Given the description of an element on the screen output the (x, y) to click on. 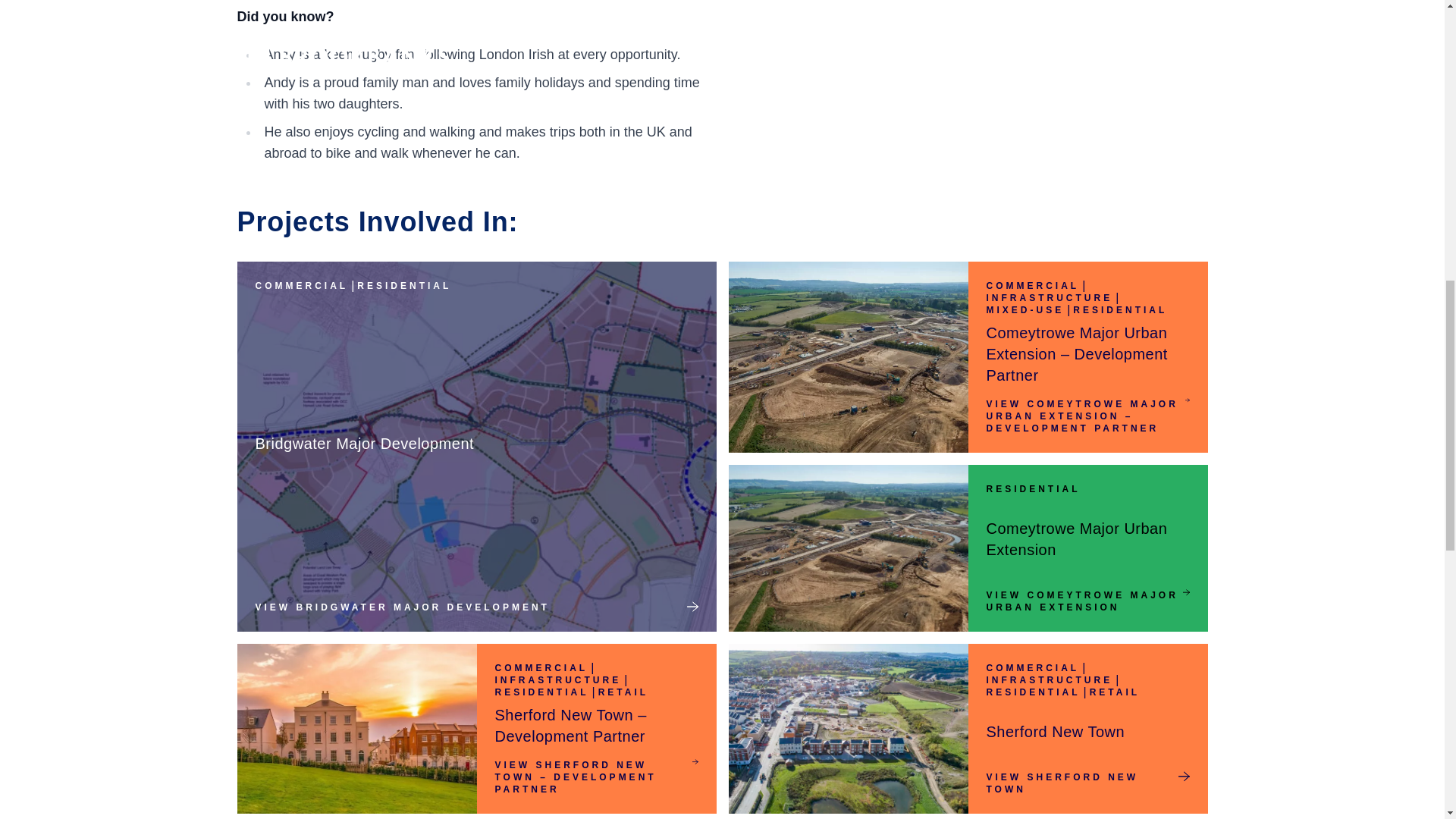
view Comeytrowe Major Urban Extension (1087, 600)
VIEW BRIDGWATER MAJOR DEVELOPMENT (475, 607)
VIEW SHERFORD NEW TOWN (1087, 783)
VIEW COMEYTROWE MAJOR URBAN EXTENSION (1087, 600)
view Bridgwater Major Development (475, 607)
view Sherford New Town (1087, 783)
